Given the description of an element on the screen output the (x, y) to click on. 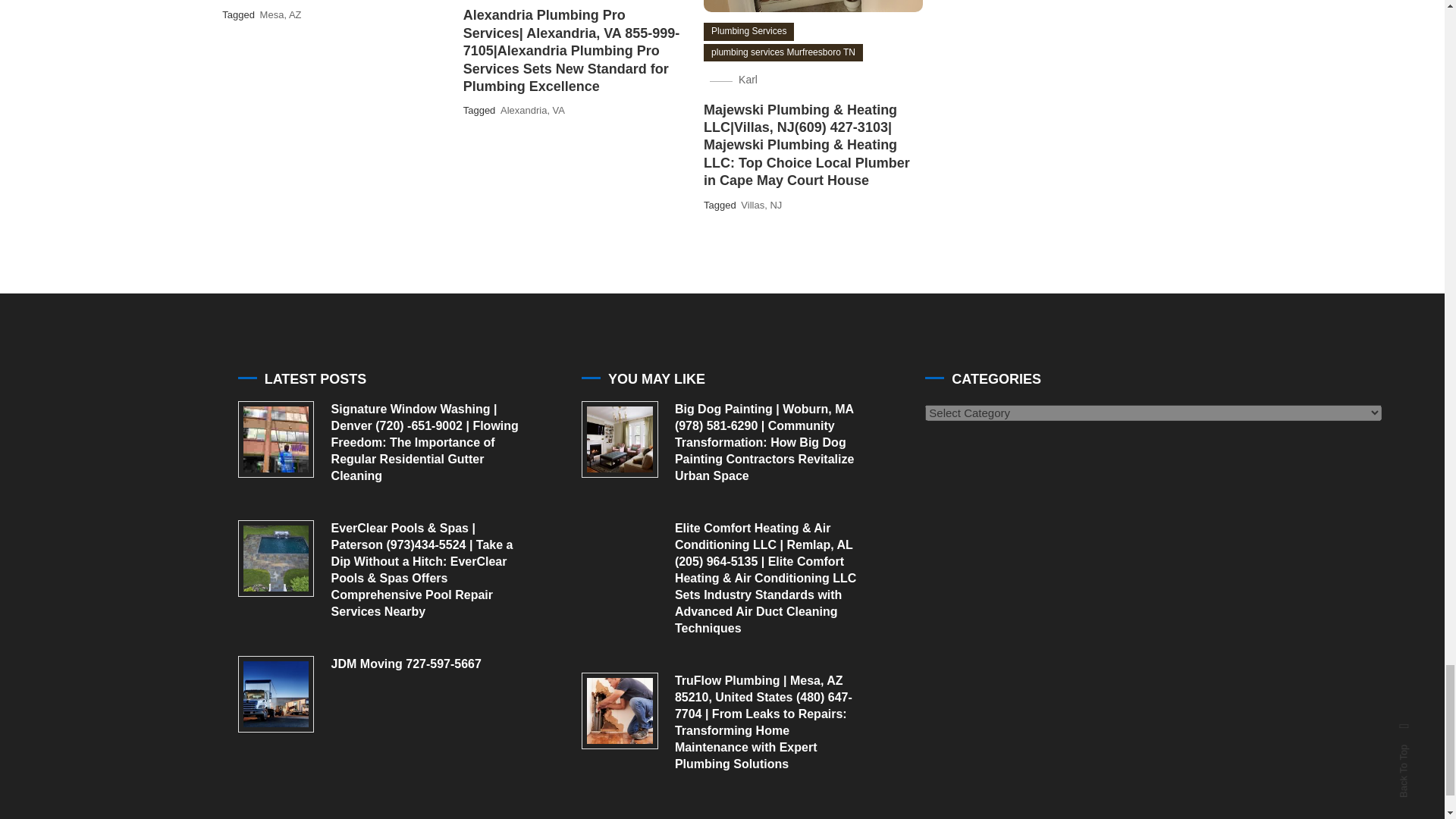
JDM Moving 727-597-5667 (276, 694)
